Given the description of an element on the screen output the (x, y) to click on. 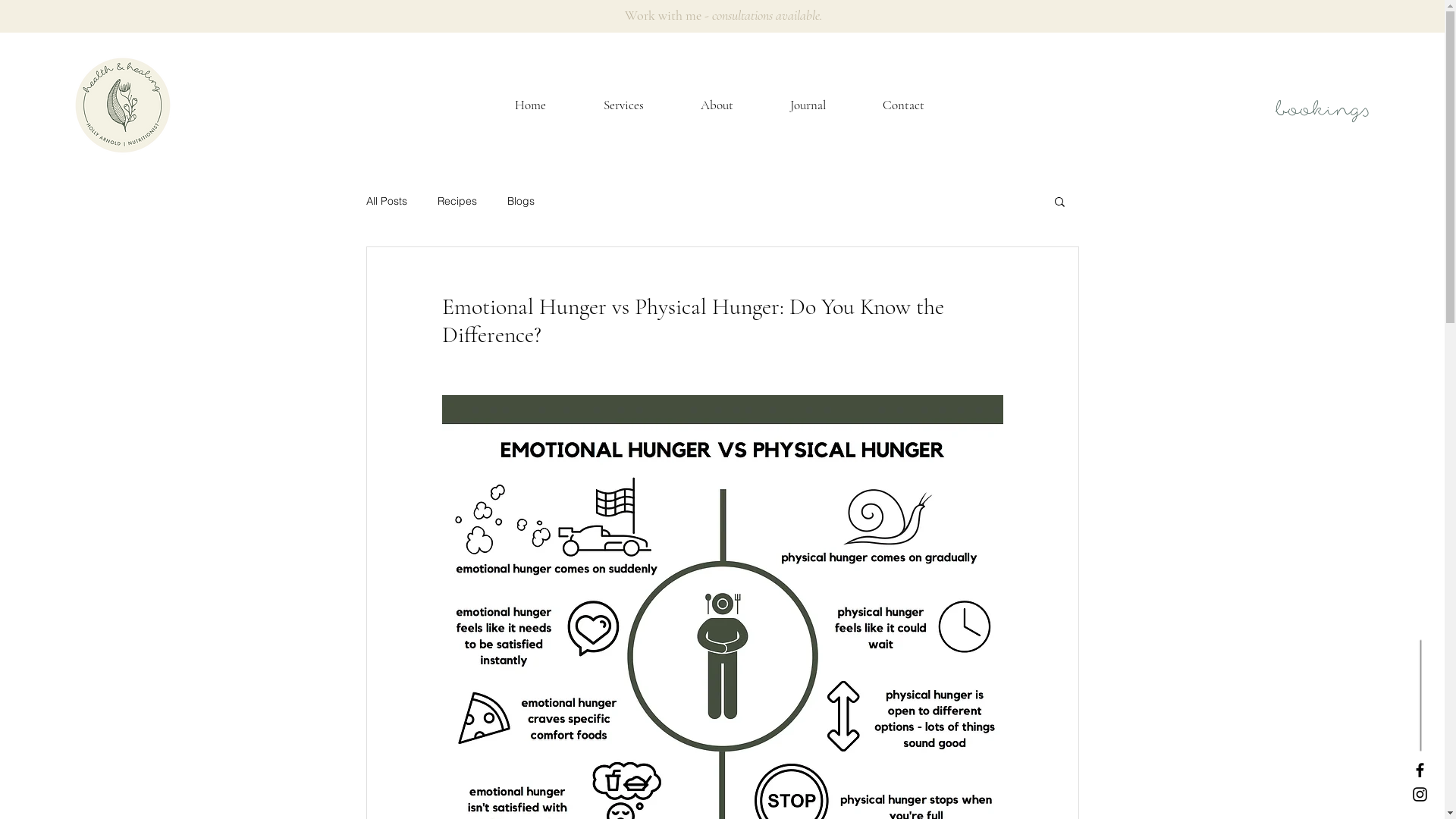
Blogs Element type: text (519, 200)
Home Element type: text (530, 105)
About Element type: text (716, 105)
All Posts Element type: text (385, 200)
bookings Element type: text (1320, 107)
Contact Element type: text (902, 105)
Recipes Element type: text (456, 200)
Work with me - consultations available. Element type: text (723, 14)
Journal Element type: text (807, 105)
